Given the description of an element on the screen output the (x, y) to click on. 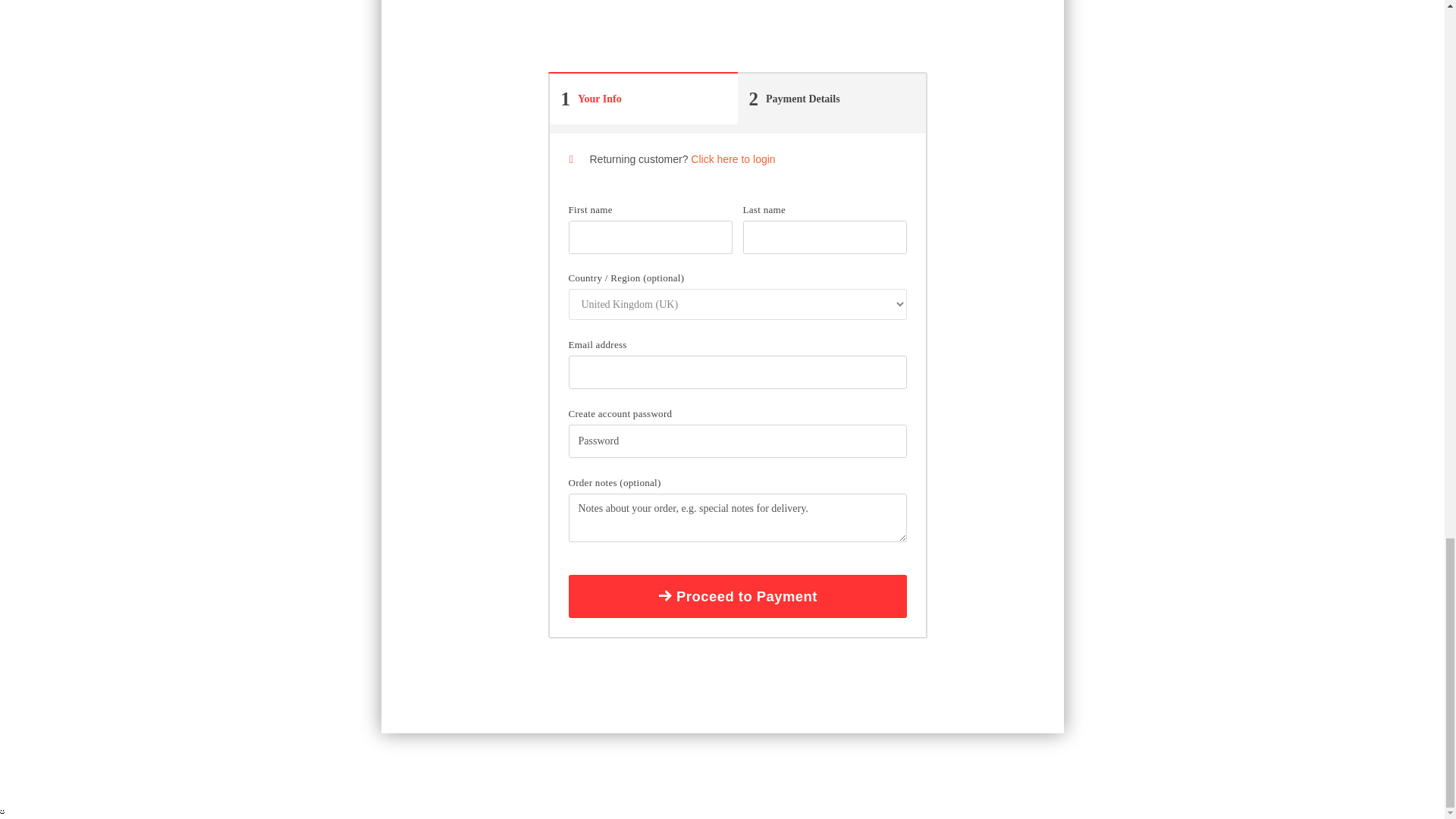
Proceed to Payment (830, 99)
Click here to login (738, 596)
